Given the description of an element on the screen output the (x, y) to click on. 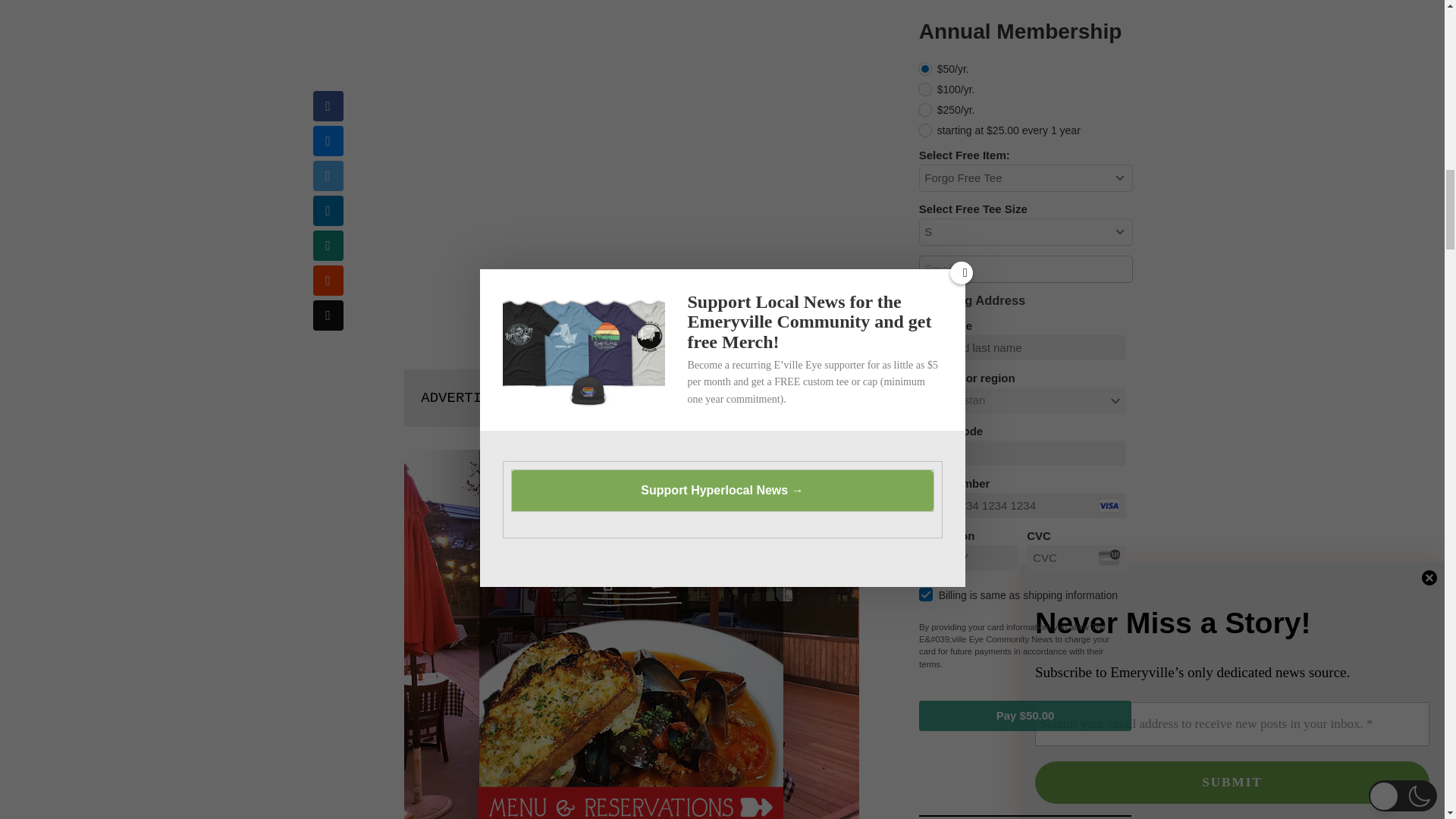
make-a-recurring-annual-payment-1515781151 (924, 69)
